Given the description of an element on the screen output the (x, y) to click on. 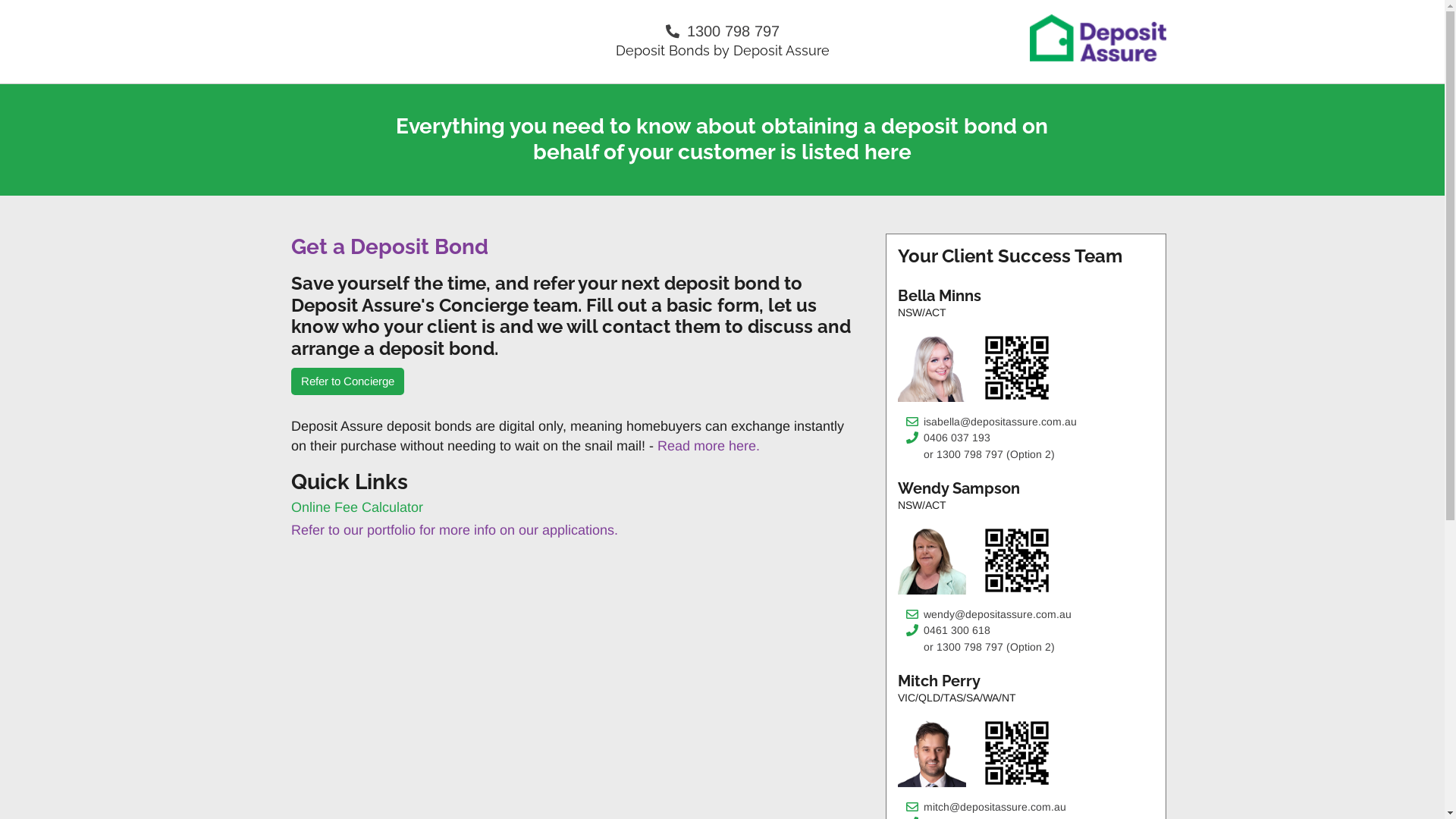
or 1300 798 797 (Option 2) Element type: text (977, 647)
Quick Links Element type: text (576, 482)
or 1300 798 797 (Option 2) Element type: text (977, 454)
Refer to Concierge Element type: text (347, 381)
Online Fee Calculator Element type: text (357, 506)
Read more here. Element type: text (707, 445)
Refer to our portfolio for more info on our applications. Element type: text (454, 529)
0461 300 618 Element type: text (945, 631)
1300 798 797 Element type: text (722, 30)
0406 037 193 Element type: text (945, 438)
isabella@depositassure.com.au Element type: text (988, 422)
mitch@depositassure.com.au Element type: text (983, 807)
wendy@depositassure.com.au Element type: text (985, 615)
